Given the description of an element on the screen output the (x, y) to click on. 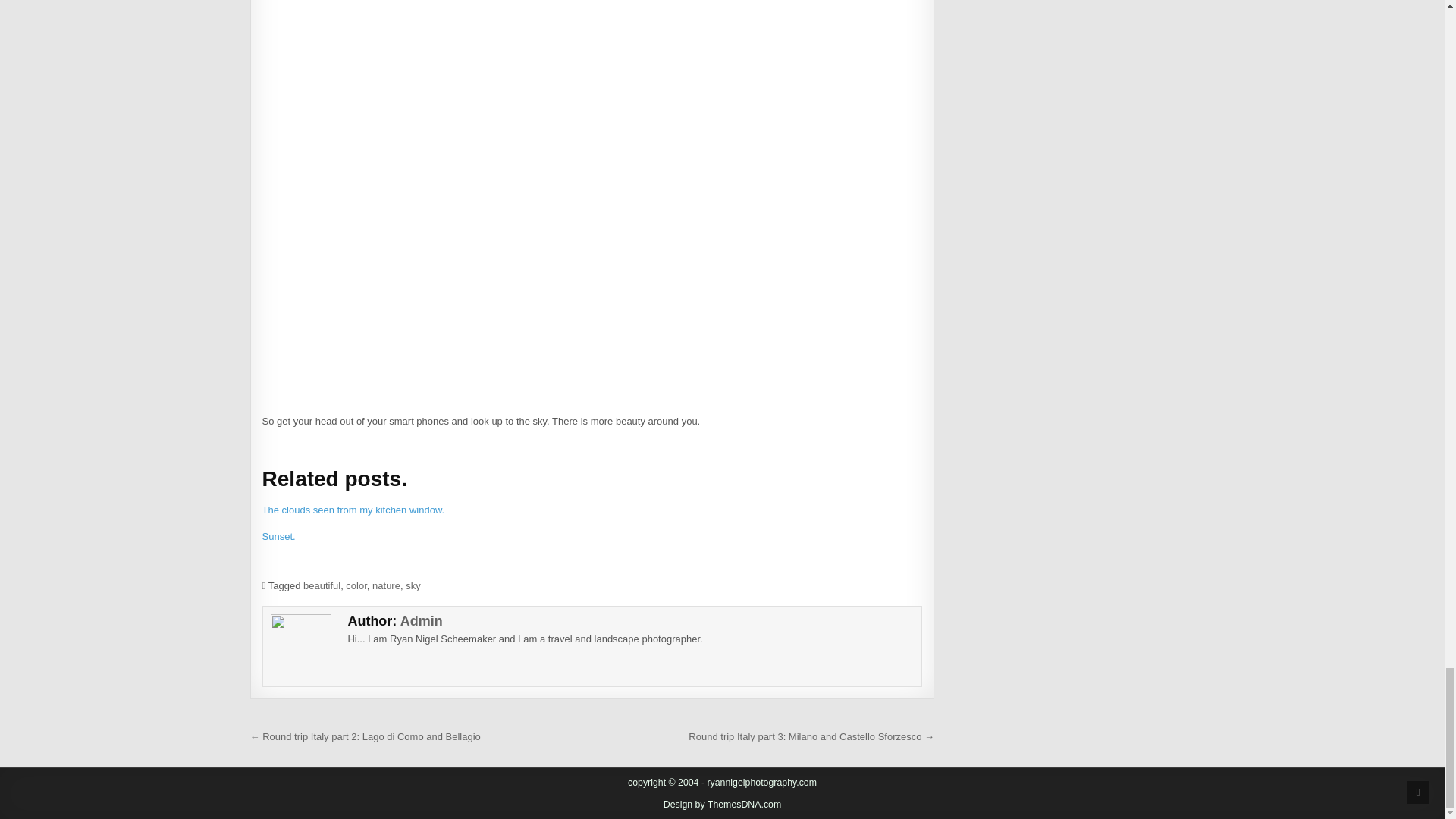
sky (413, 585)
The clouds seen from my kitchen window. (353, 509)
Design by ThemesDNA.com (722, 804)
Sunset. (278, 536)
nature (386, 585)
color (356, 585)
beautiful (321, 585)
Admin (421, 620)
